Given the description of an element on the screen output the (x, y) to click on. 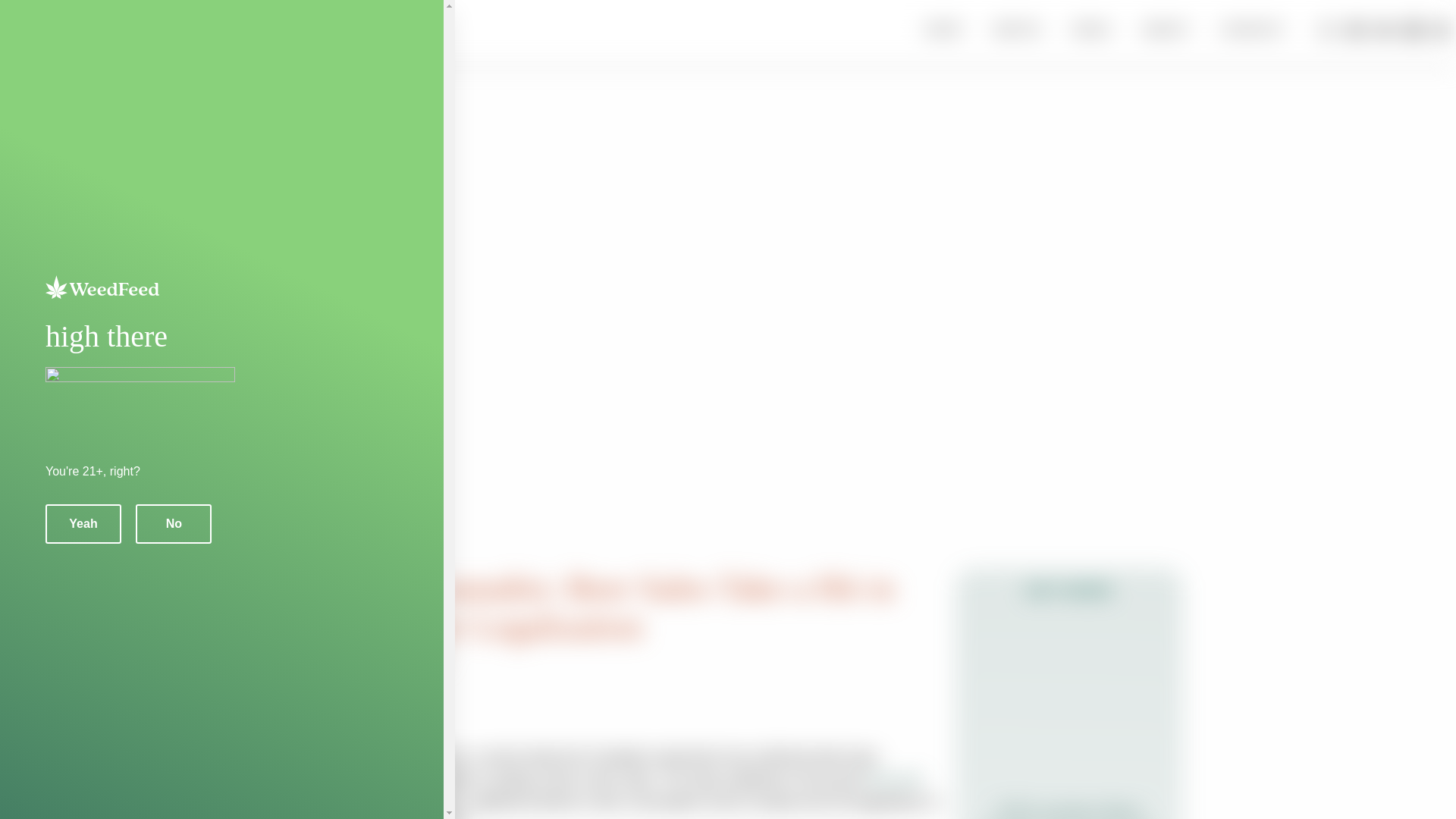
CONTACT (1253, 30)
Yeah (82, 523)
No (173, 523)
